Given the description of an element on the screen output the (x, y) to click on. 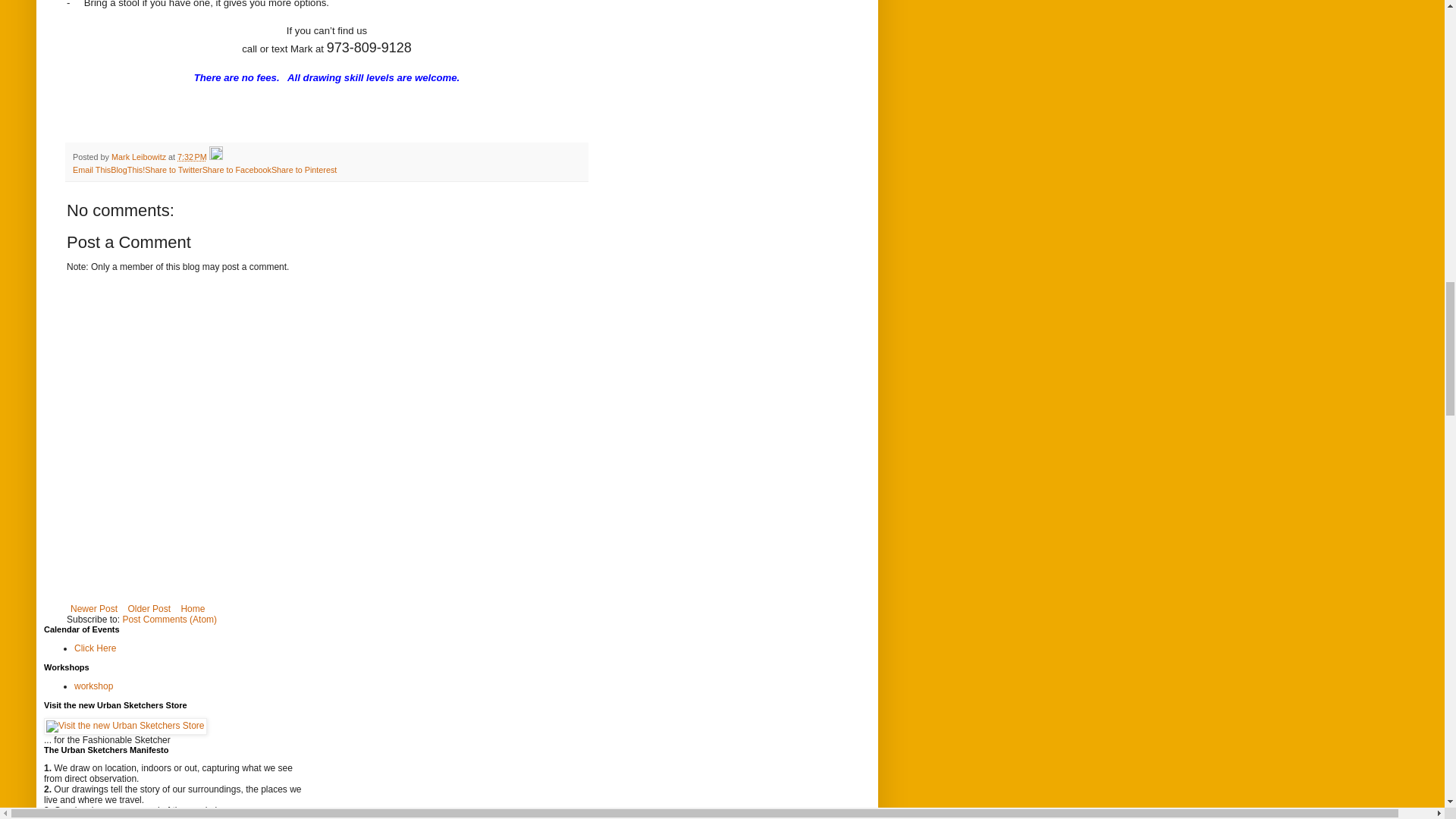
Email This (91, 169)
permanent link (191, 156)
Share to Twitter (173, 169)
Share to Facebook (236, 169)
Mark Leibowitz (140, 156)
BlogThis! (127, 169)
Share to Twitter (173, 169)
Home (192, 608)
author profile (140, 156)
Click Here (95, 647)
workshop (93, 685)
Email This (91, 169)
Older Post (148, 608)
Newer Post (93, 608)
